Given the description of an element on the screen output the (x, y) to click on. 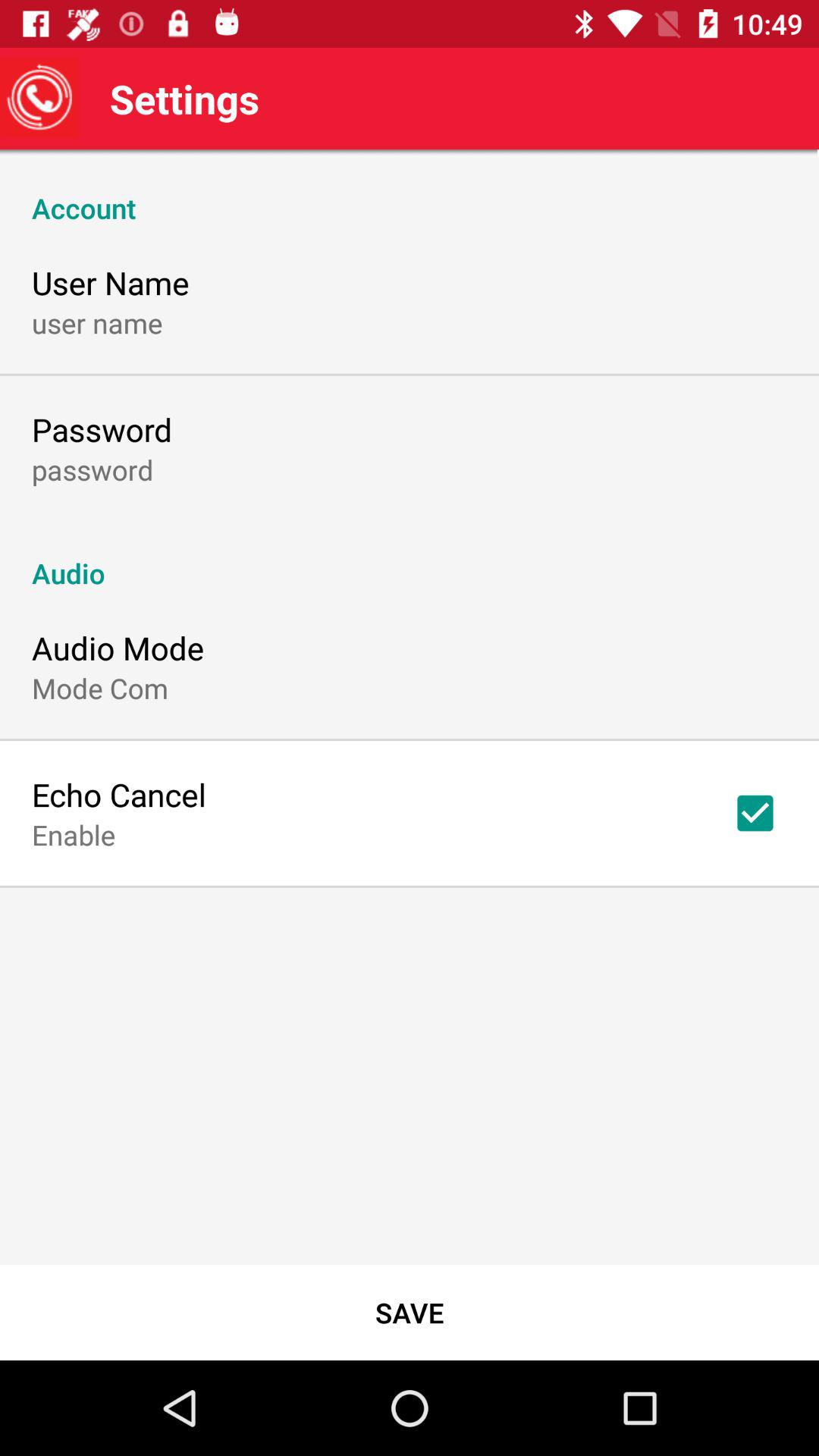
jump until audio mode (117, 647)
